Given the description of an element on the screen output the (x, y) to click on. 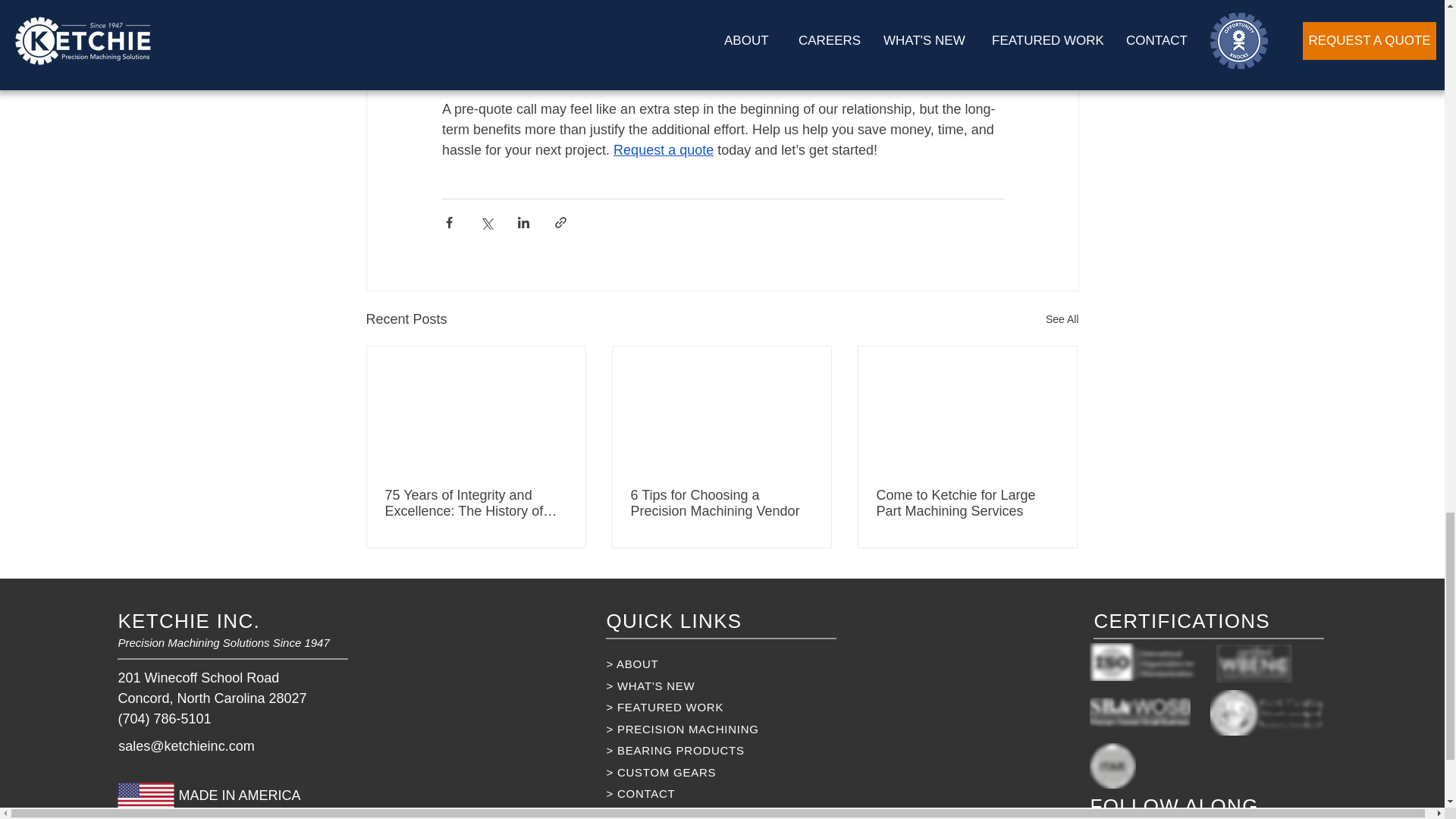
Come to Ketchie for Large Part Machining Services (967, 503)
6 Tips for Choosing a Precision Machining Vendor (721, 503)
See All (1061, 319)
Request a quote (662, 150)
75 Years of Integrity and Excellence: The History of Ketchie (476, 503)
